Given the description of an element on the screen output the (x, y) to click on. 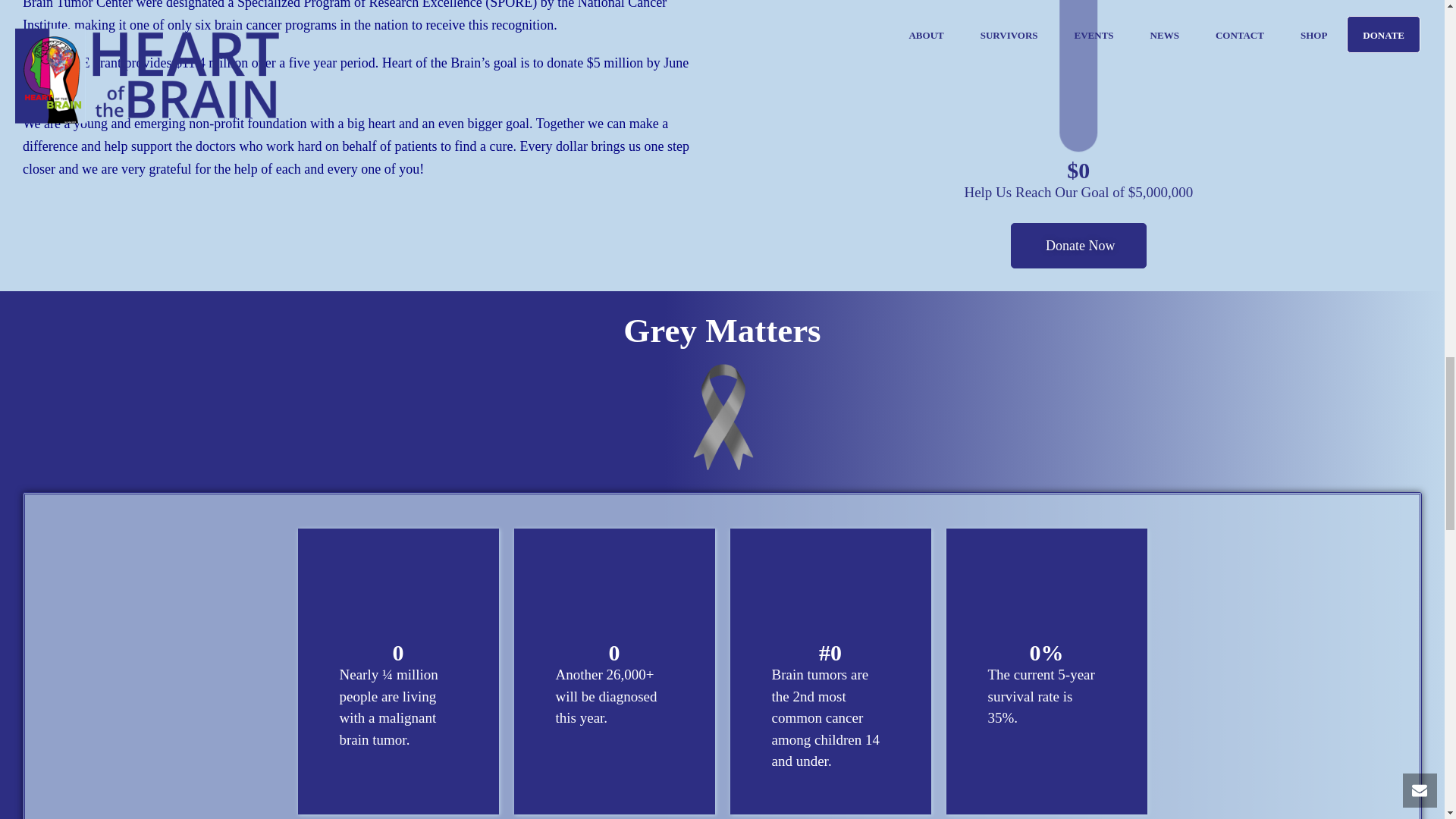
Donate Now (1077, 245)
